Given the description of an element on the screen output the (x, y) to click on. 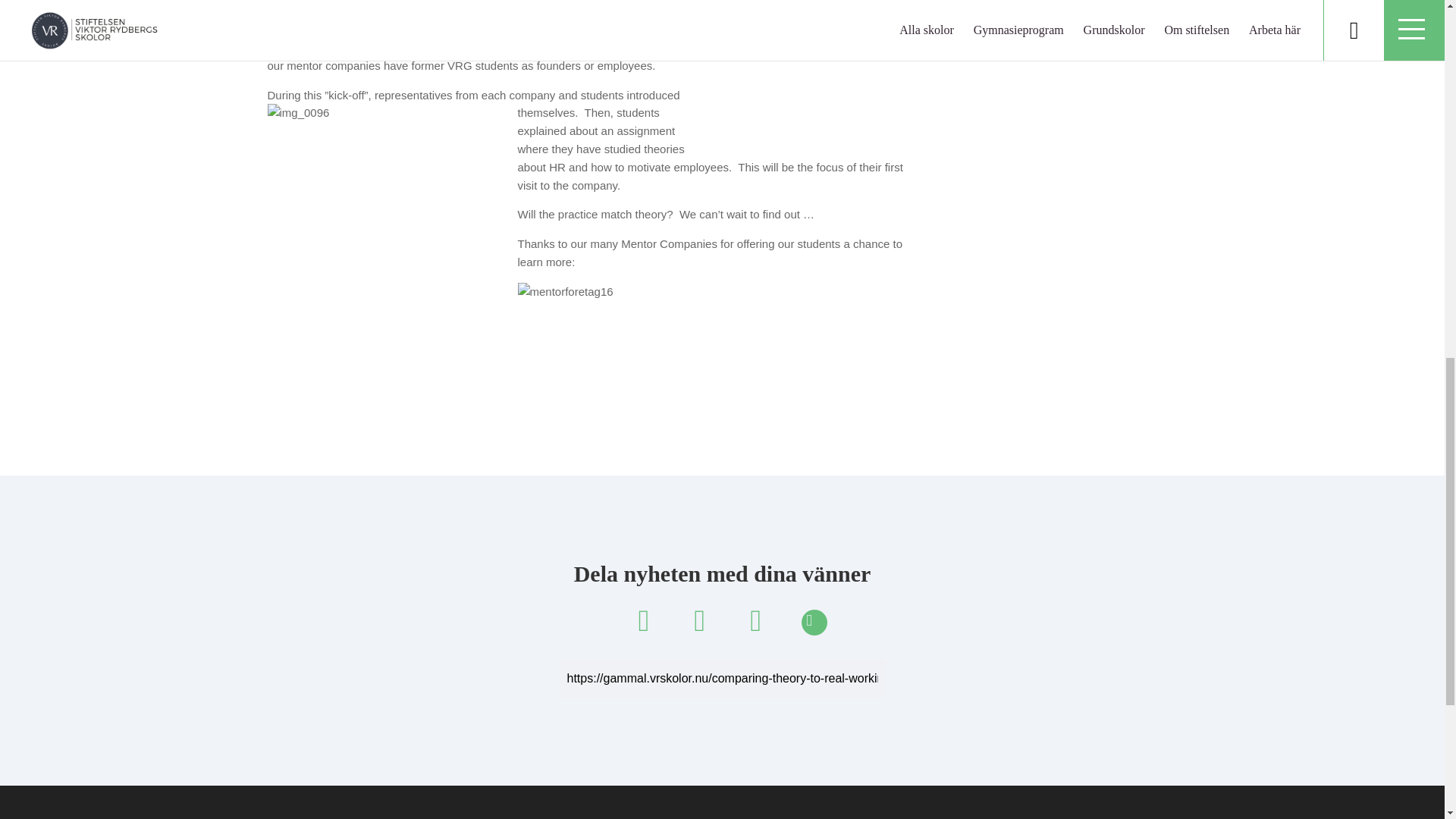
our alumni group (589, 29)
parent network (304, 47)
